Given the description of an element on the screen output the (x, y) to click on. 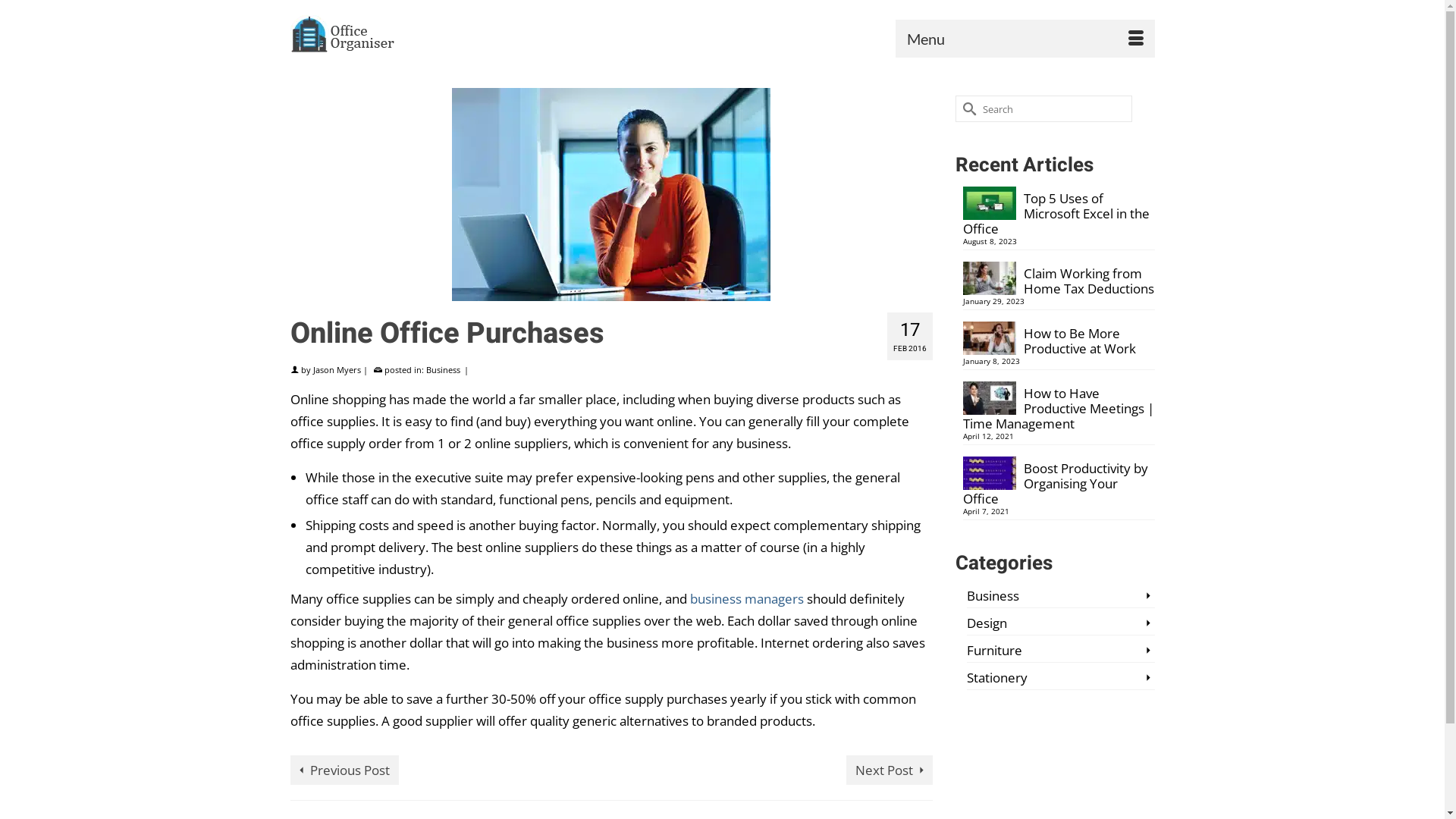
Business Element type: text (443, 369)
Stationery Element type: text (1060, 678)
Jason Myers Element type: text (336, 369)
Next Post Element type: text (889, 769)
business managers Element type: text (746, 598)
Previous Post Element type: text (343, 769)
Business Element type: text (1060, 596)
Boost Productivity by Organising Your Office Element type: text (1058, 481)
Office Organiser Element type: hover (425, 34)
Top 5 Uses of Microsoft Excel in the Office Element type: text (1058, 211)
How to Be More Productive at Work Element type: text (1058, 338)
Claim Working from Home Tax Deductions Element type: text (1058, 278)
Furniture Element type: text (1060, 650)
How to Have Productive Meetings | Time Management Element type: text (1058, 406)
Menu Element type: text (1024, 38)
Design Element type: text (1060, 623)
